Given the description of an element on the screen output the (x, y) to click on. 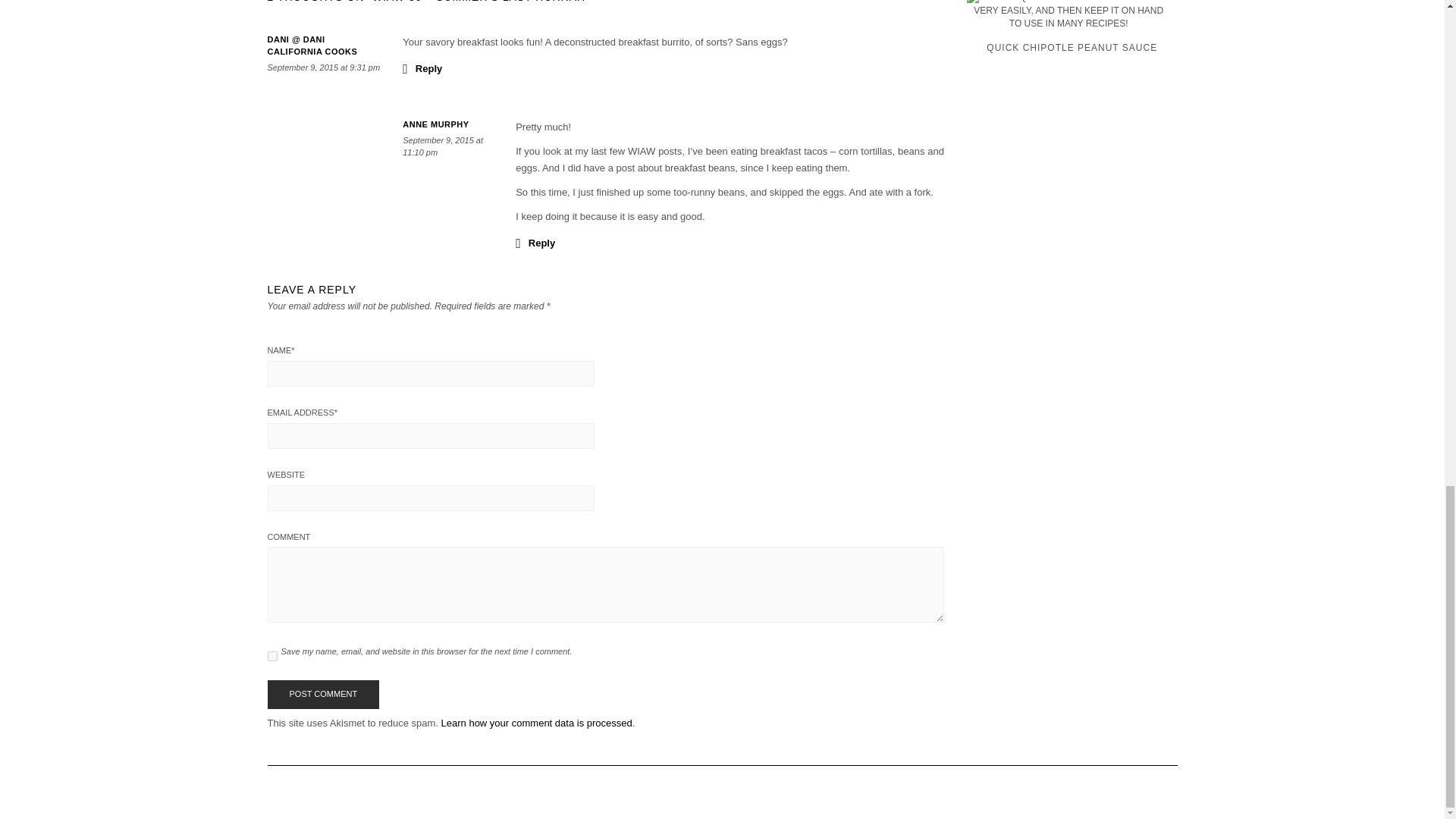
Post Comment (322, 694)
Reply (422, 67)
Post Comment (322, 694)
yes (271, 655)
QUICK CHIPOTLE PEANUT SAUCE (1071, 28)
September 9, 2015 at 11:10 pm (443, 146)
Reply (534, 242)
Learn how your comment data is processed (536, 722)
September 9, 2015 at 9:31 pm (323, 67)
